Given the description of an element on the screen output the (x, y) to click on. 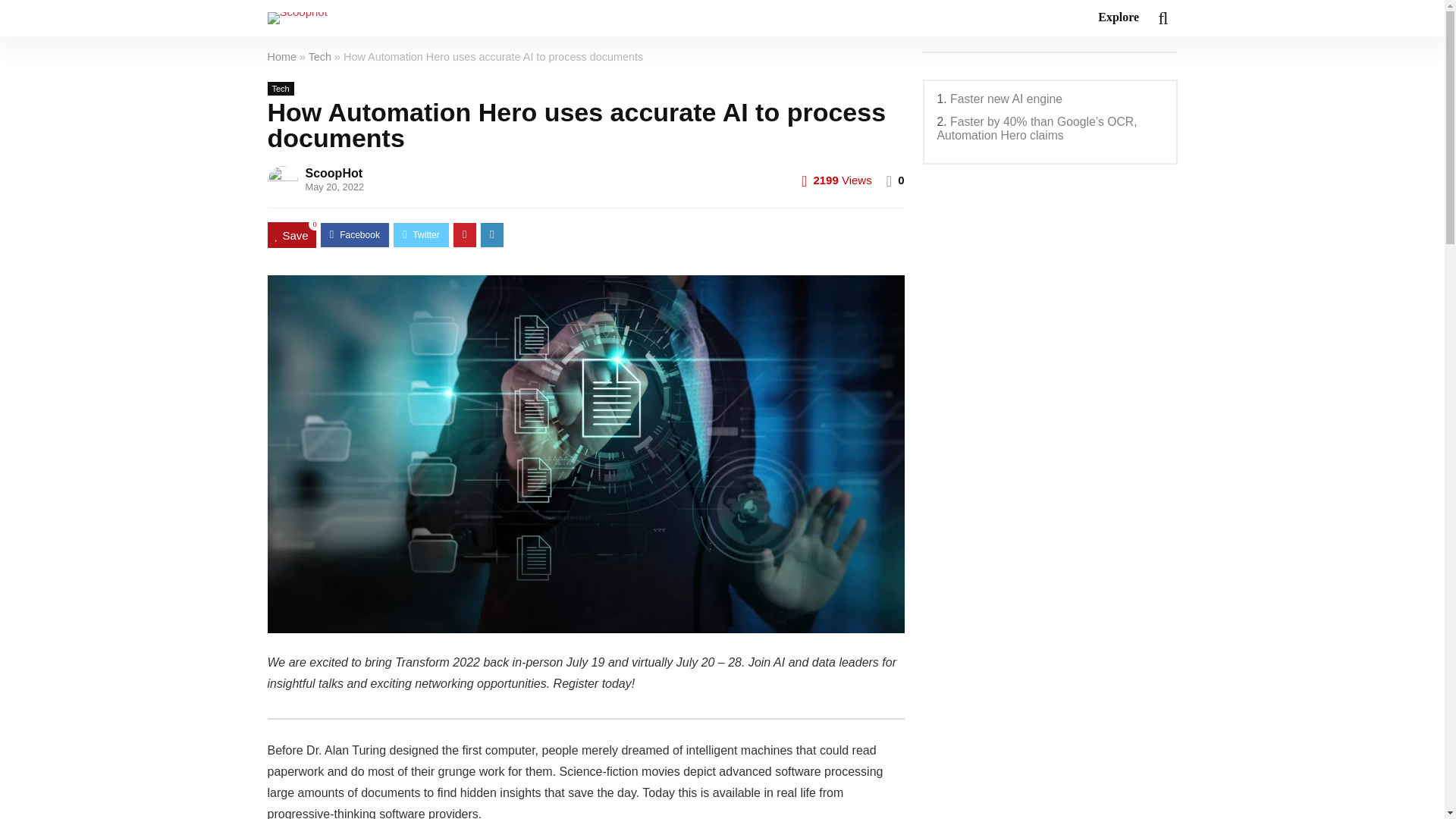
Home (280, 56)
ScoopHot (333, 173)
View all posts in Tech (280, 88)
Explore (1117, 18)
Tech (319, 56)
Tech (280, 88)
Faster new AI engine (1006, 98)
